Given the description of an element on the screen output the (x, y) to click on. 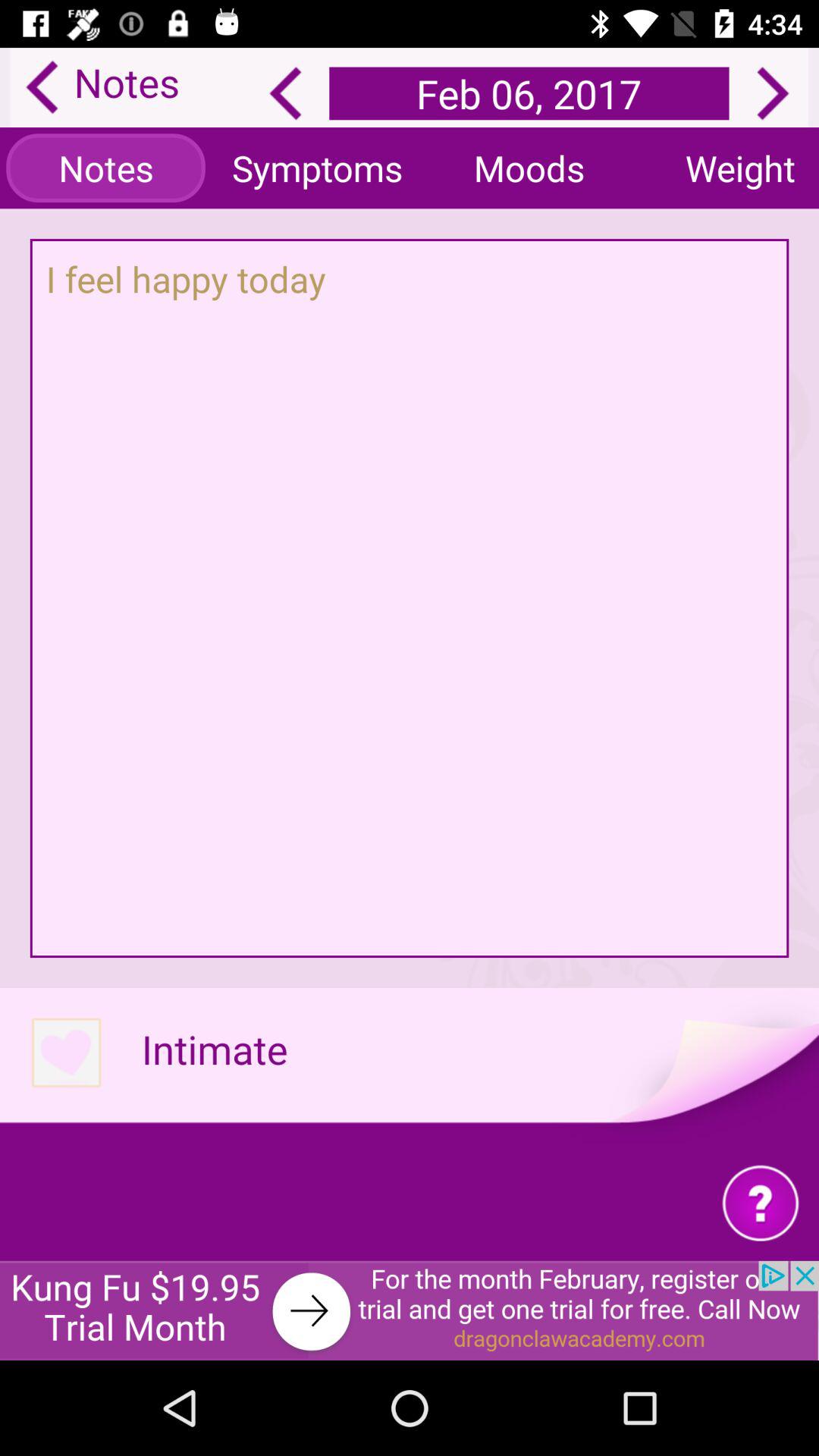
question symbol (760, 1202)
